Given the description of an element on the screen output the (x, y) to click on. 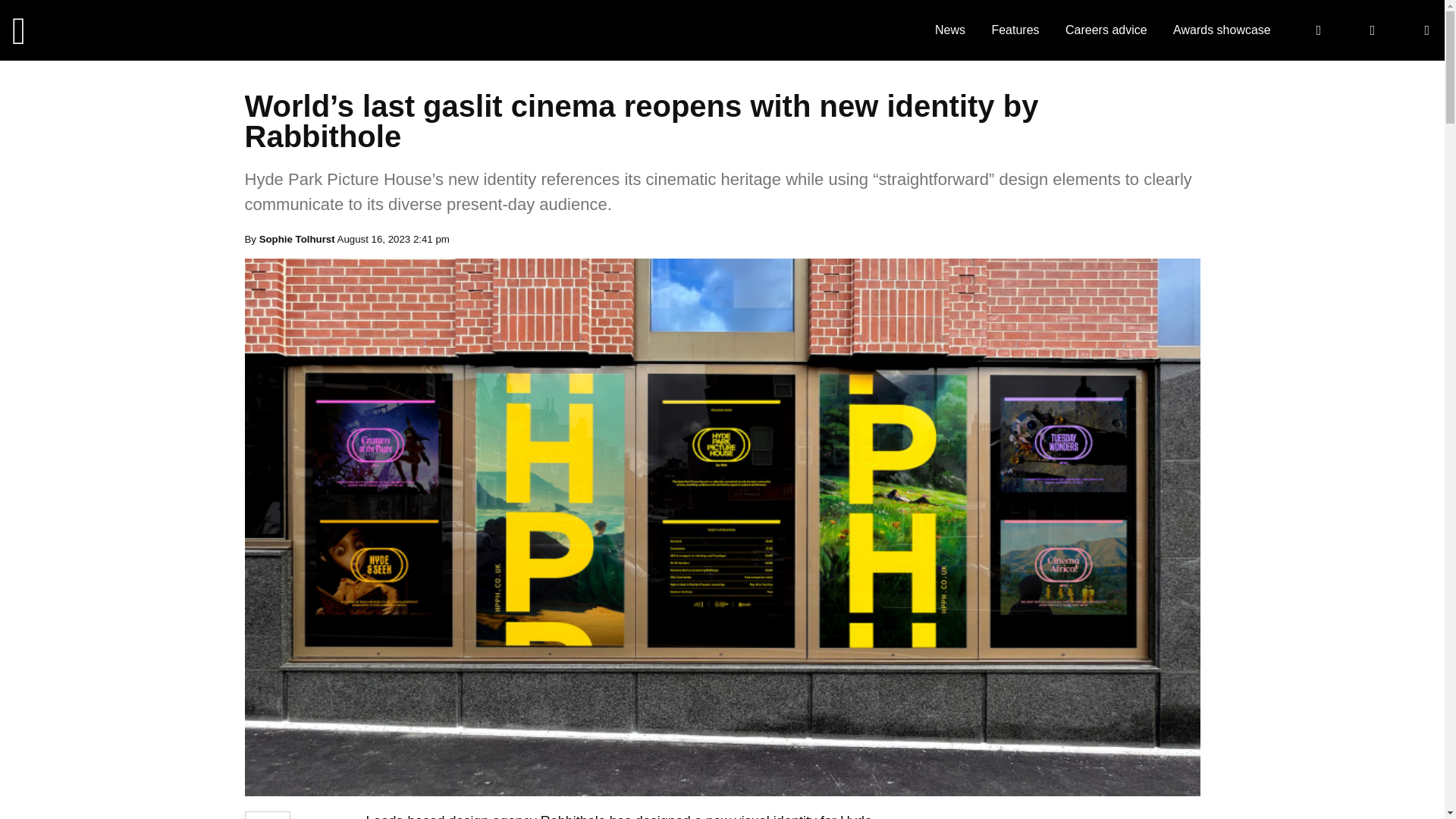
Features (1015, 29)
News (949, 29)
Awards showcase (1222, 29)
Sophie Tolhurst (296, 238)
Posts by Sophie Tolhurst (296, 238)
Careers advice (1106, 29)
